Given the description of an element on the screen output the (x, y) to click on. 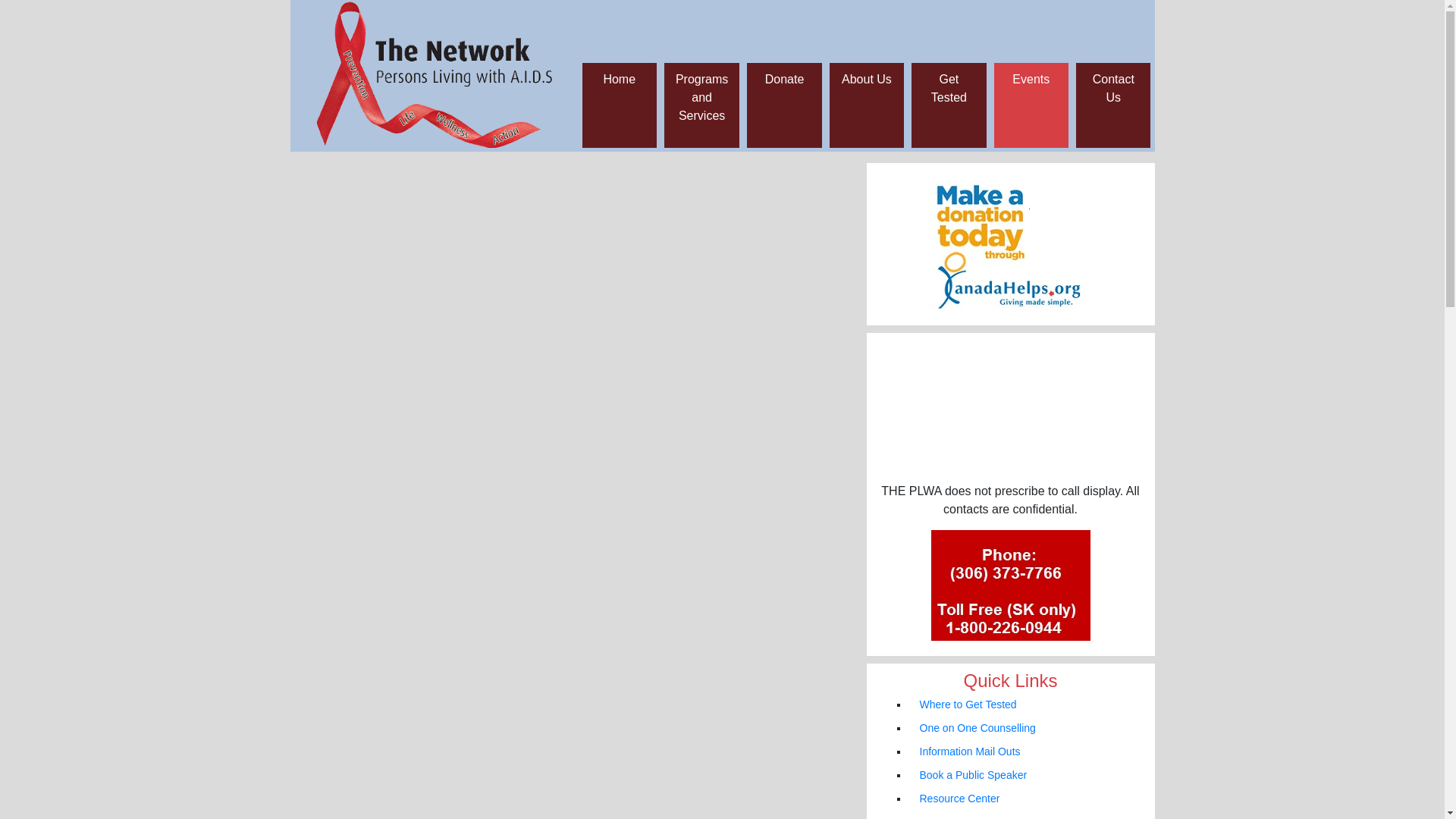
Home Element type: text (618, 78)
Resource Center Element type: text (959, 798)
One on One Counselling Element type: text (977, 727)
Get Tested Element type: text (948, 87)
Information Mail Outs Element type: text (970, 751)
Where to Get Tested Element type: text (968, 704)
Programs and Services Element type: text (701, 97)
Book a Public Speaker Element type: text (973, 774)
Donate Element type: text (784, 78)
Contact Us Element type: text (1113, 87)
About Us Element type: text (866, 78)
Events Element type: text (1030, 78)
